Given the description of an element on the screen output the (x, y) to click on. 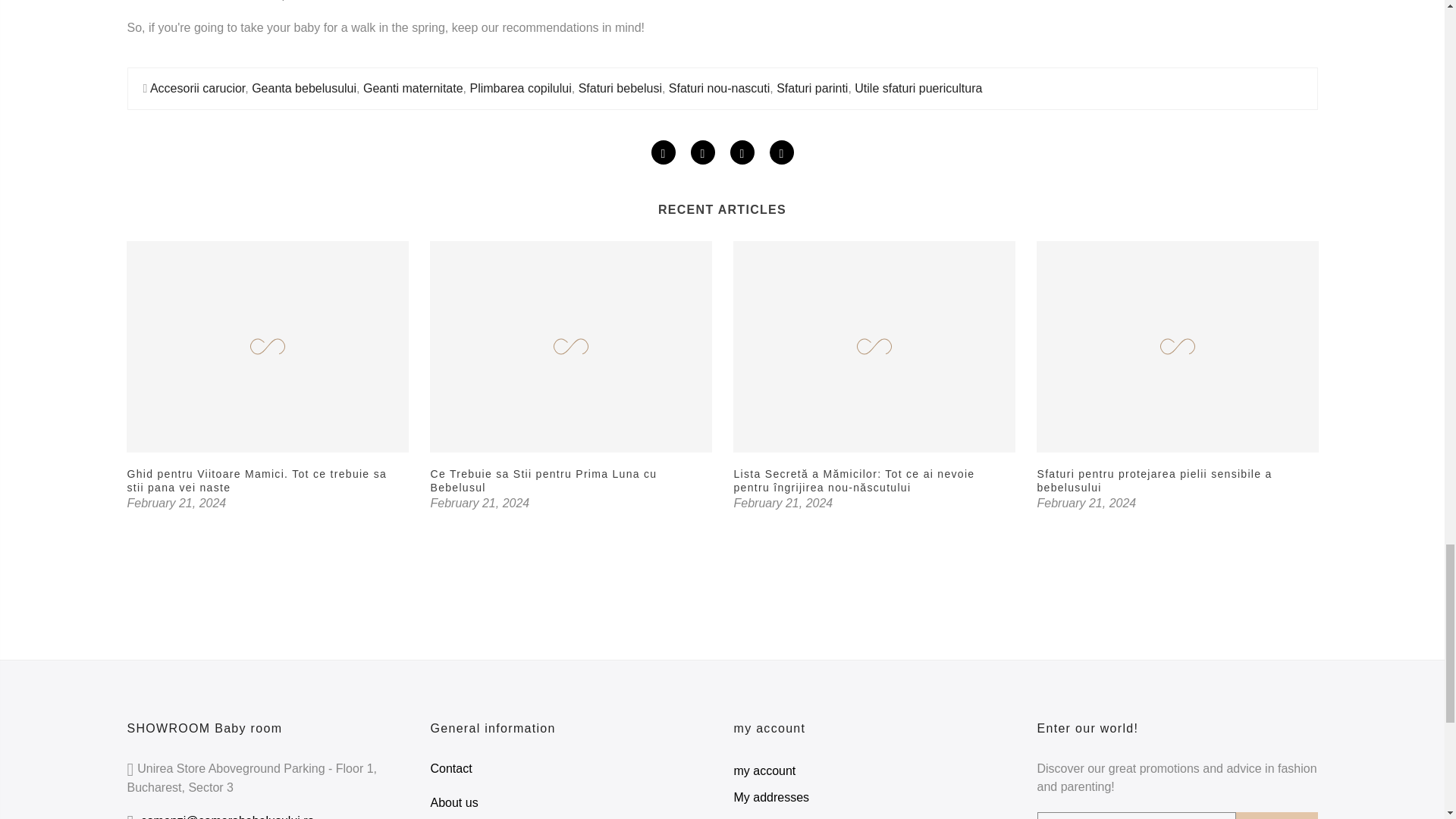
Geanta bebelusului (303, 88)
Sfaturi nou-nascuti (719, 88)
Accesorii carucior (196, 88)
Plimbarea copilului (519, 88)
Sfaturi parinti (811, 88)
Sfaturi bebelusi (620, 88)
Utile sfaturi puericultura (917, 88)
Geanti maternitate (412, 88)
